Given the description of an element on the screen output the (x, y) to click on. 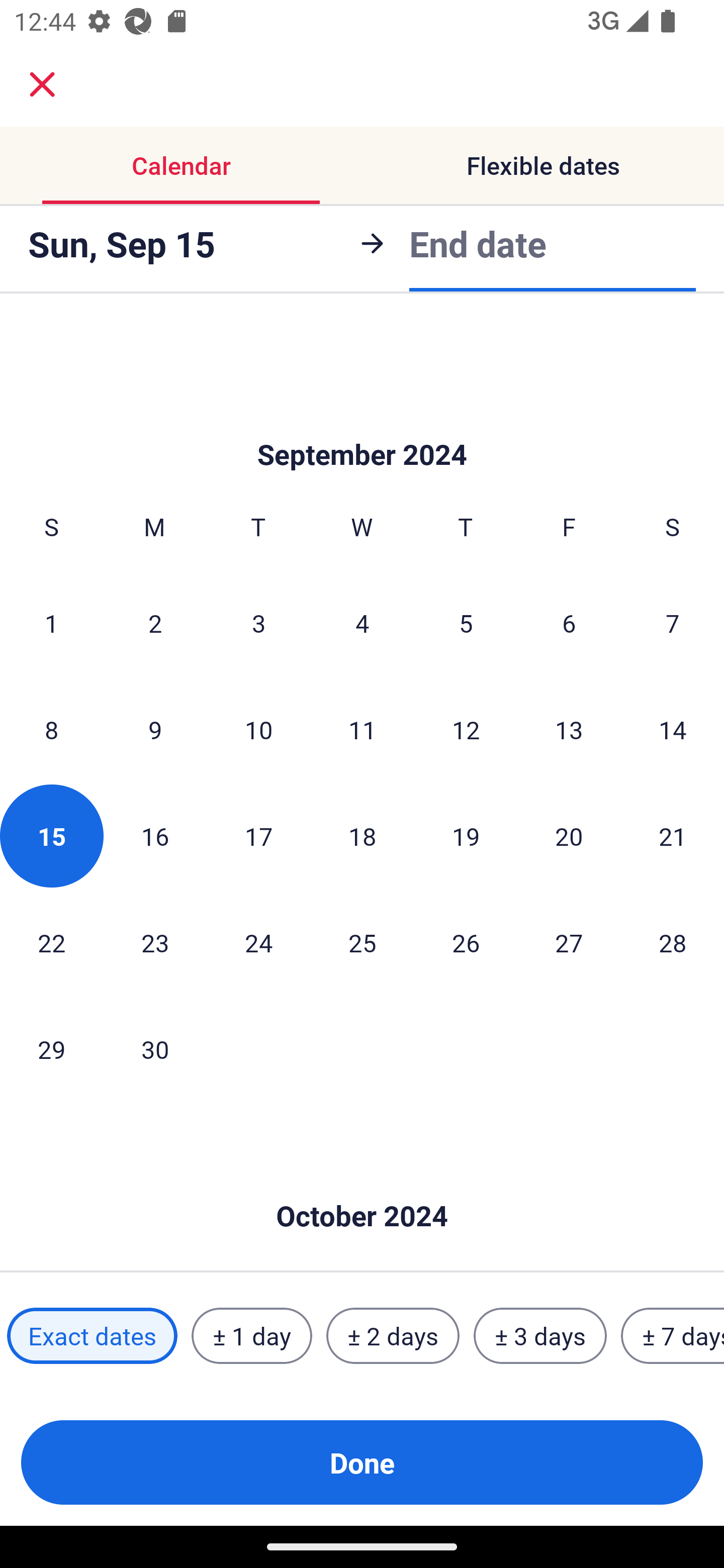
close. (42, 84)
Flexible dates (542, 164)
End date (477, 240)
Skip to Done (362, 424)
1 Sunday, September 1, 2024 (51, 622)
2 Monday, September 2, 2024 (155, 622)
3 Tuesday, September 3, 2024 (258, 622)
4 Wednesday, September 4, 2024 (362, 622)
5 Thursday, September 5, 2024 (465, 622)
6 Friday, September 6, 2024 (569, 622)
7 Saturday, September 7, 2024 (672, 622)
8 Sunday, September 8, 2024 (51, 728)
9 Monday, September 9, 2024 (155, 728)
10 Tuesday, September 10, 2024 (258, 728)
11 Wednesday, September 11, 2024 (362, 728)
12 Thursday, September 12, 2024 (465, 728)
13 Friday, September 13, 2024 (569, 728)
14 Saturday, September 14, 2024 (672, 728)
16 Monday, September 16, 2024 (155, 835)
17 Tuesday, September 17, 2024 (258, 835)
18 Wednesday, September 18, 2024 (362, 835)
19 Thursday, September 19, 2024 (465, 835)
20 Friday, September 20, 2024 (569, 835)
21 Saturday, September 21, 2024 (672, 835)
22 Sunday, September 22, 2024 (51, 942)
23 Monday, September 23, 2024 (155, 942)
24 Tuesday, September 24, 2024 (258, 942)
25 Wednesday, September 25, 2024 (362, 942)
26 Thursday, September 26, 2024 (465, 942)
27 Friday, September 27, 2024 (569, 942)
28 Saturday, September 28, 2024 (672, 942)
29 Sunday, September 29, 2024 (51, 1048)
30 Monday, September 30, 2024 (155, 1048)
Skip to Done (362, 1185)
Exact dates (92, 1335)
± 1 day (251, 1335)
± 2 days (392, 1335)
± 3 days (539, 1335)
± 7 days (672, 1335)
Done (361, 1462)
